Given the description of an element on the screen output the (x, y) to click on. 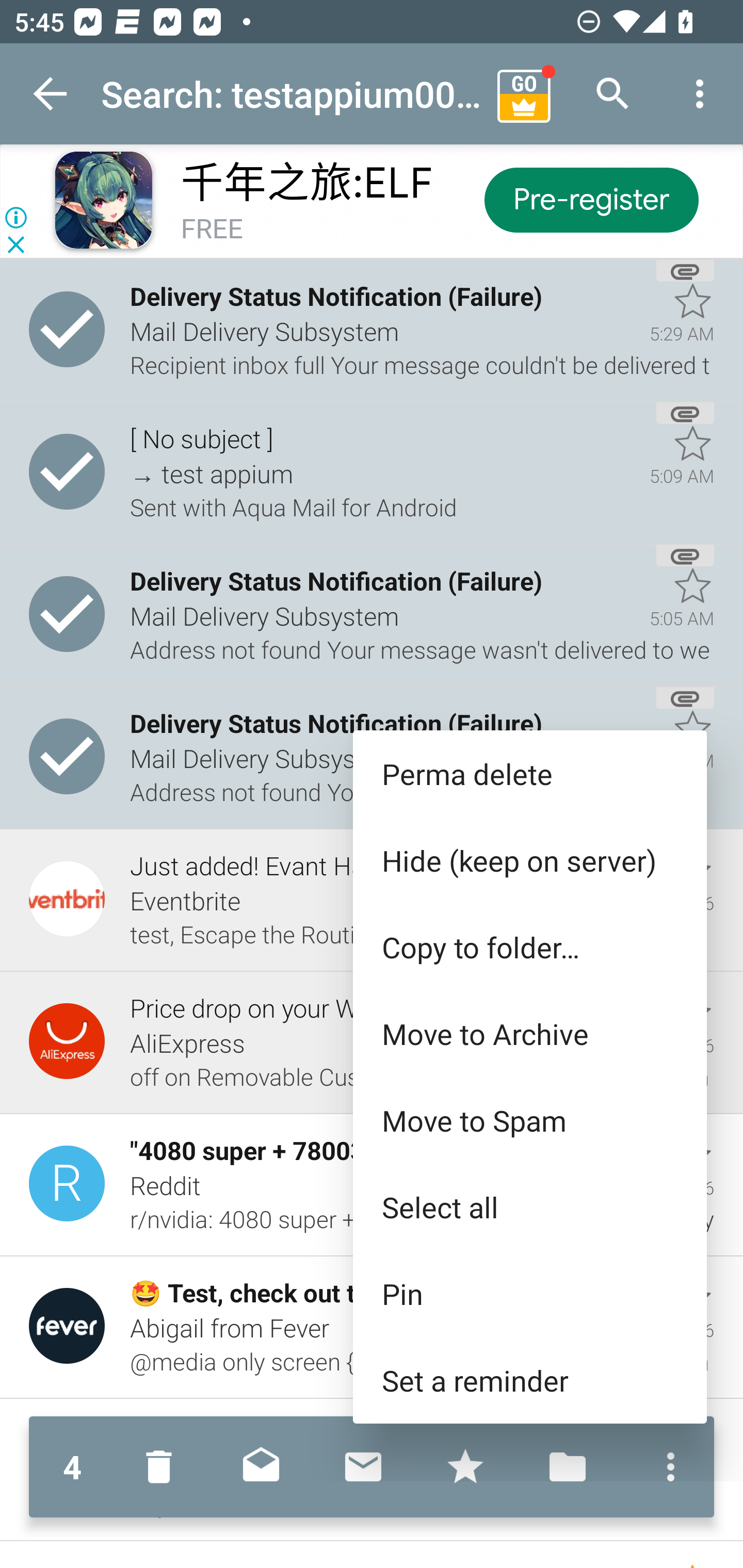
Perma delete (529, 773)
Hide (keep on server) (529, 859)
Copy to folder… (529, 946)
Move to Archive (529, 1033)
Move to Spam (529, 1120)
Select all (529, 1206)
Pin (529, 1293)
Set a reminder (529, 1380)
